Given the description of an element on the screen output the (x, y) to click on. 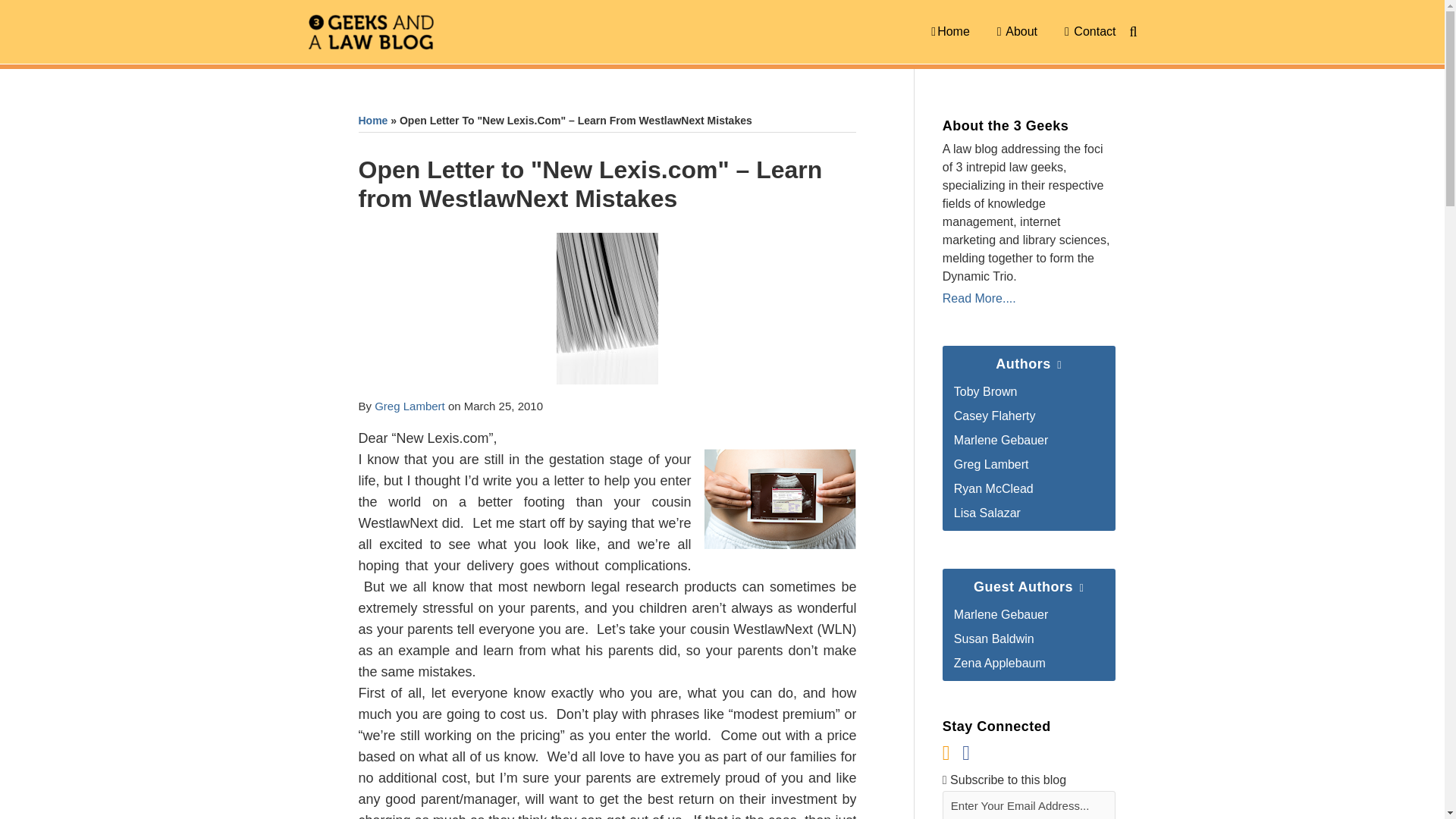
Casey Flaherty (994, 415)
Ryan McClead (993, 488)
Home (372, 120)
Greg Lambert (409, 405)
Home (950, 31)
Read More.... (1028, 298)
Lisa Salazar (986, 512)
Greg Lambert (991, 463)
About (1016, 31)
Toby Brown (985, 391)
